Given the description of an element on the screen output the (x, y) to click on. 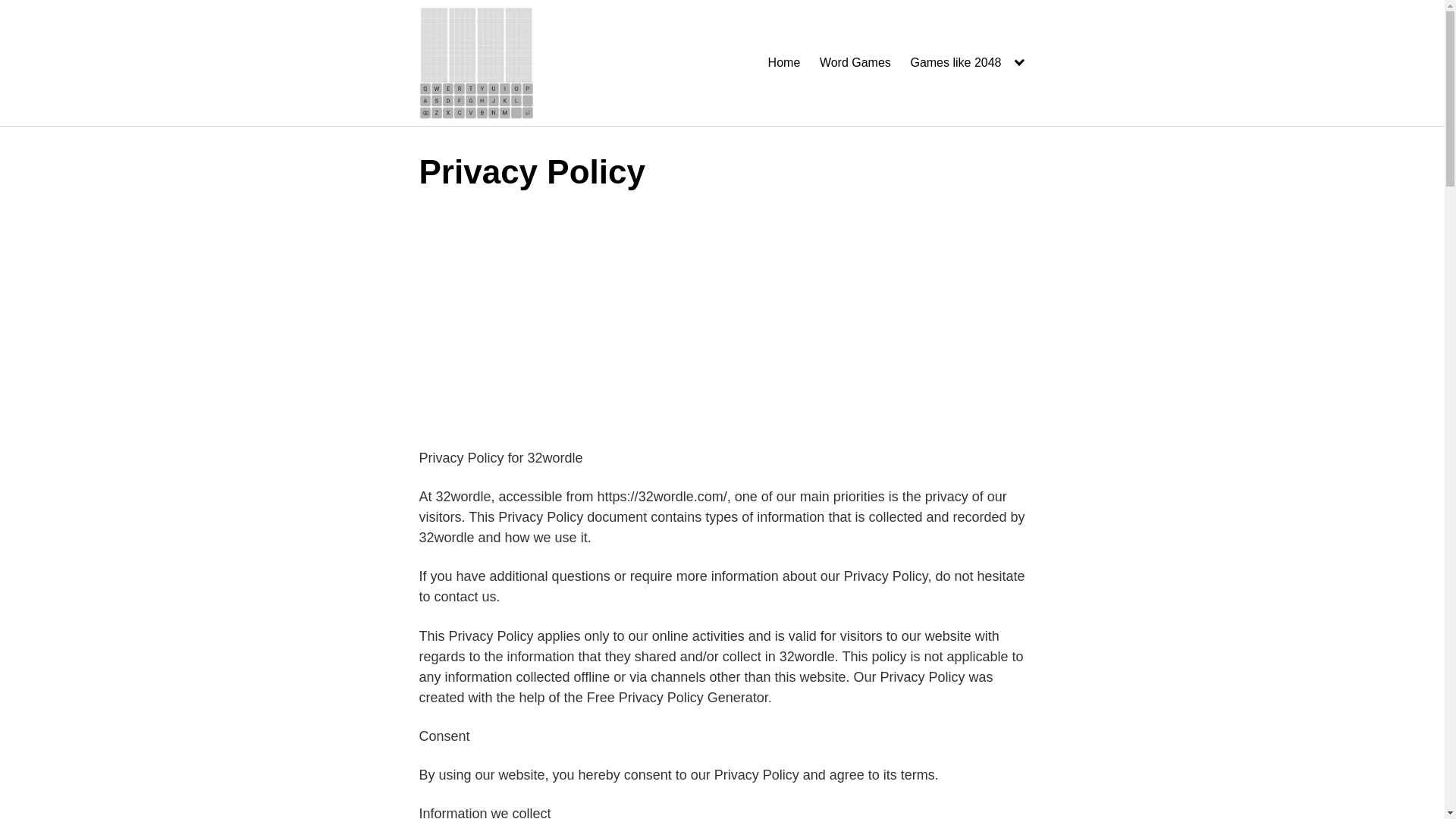
Advertisement Element type: hover (721, 322)
Games like 2048 Element type: text (967, 62)
Word Games Element type: text (855, 62)
Home Element type: text (784, 62)
